Given the description of an element on the screen output the (x, y) to click on. 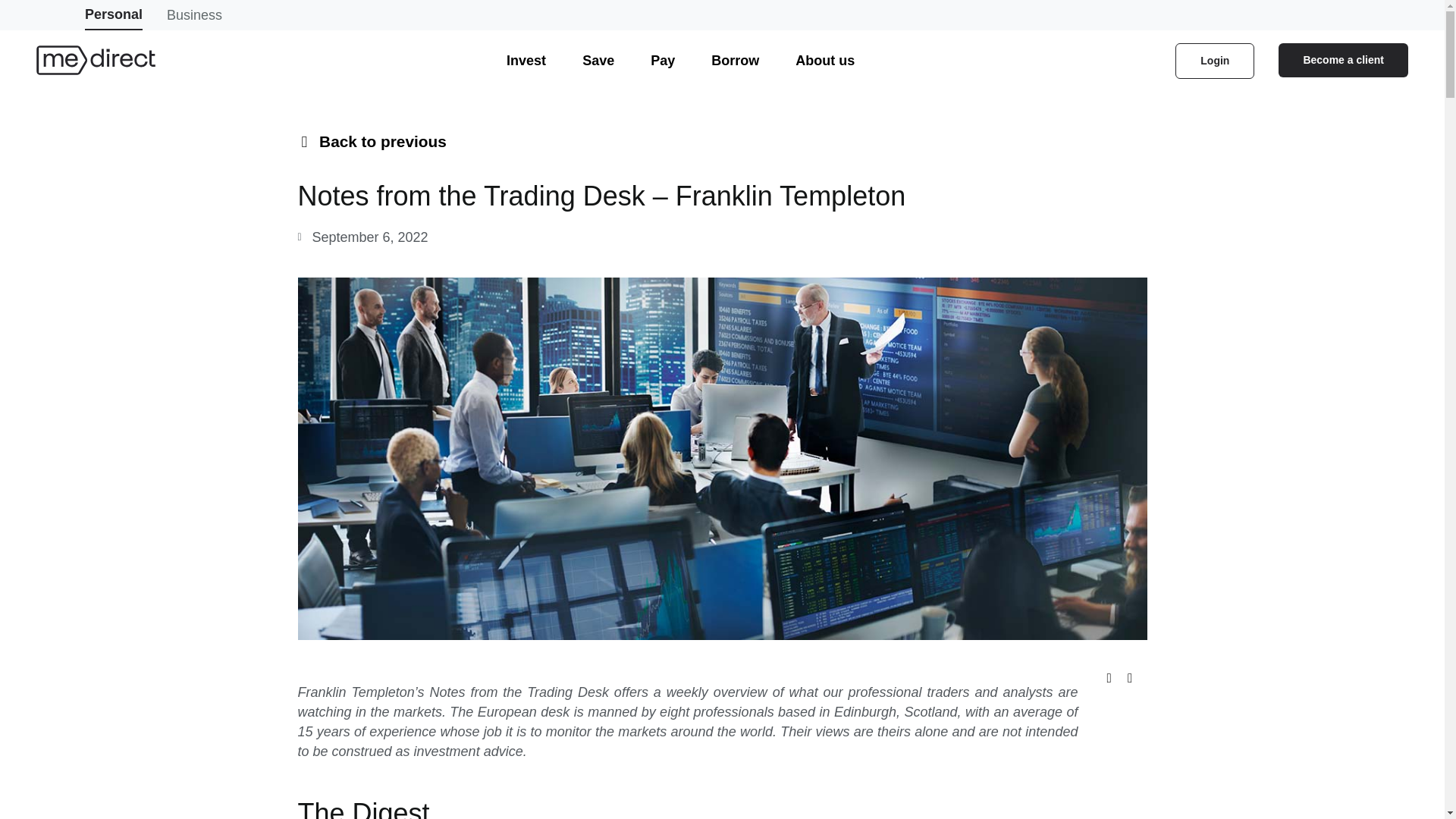
Pay (663, 60)
Login (1213, 59)
Save (598, 60)
About us (824, 60)
Become a client (1342, 59)
Personal (113, 15)
Borrow (734, 60)
Invest (525, 60)
Business (194, 15)
